Given the description of an element on the screen output the (x, y) to click on. 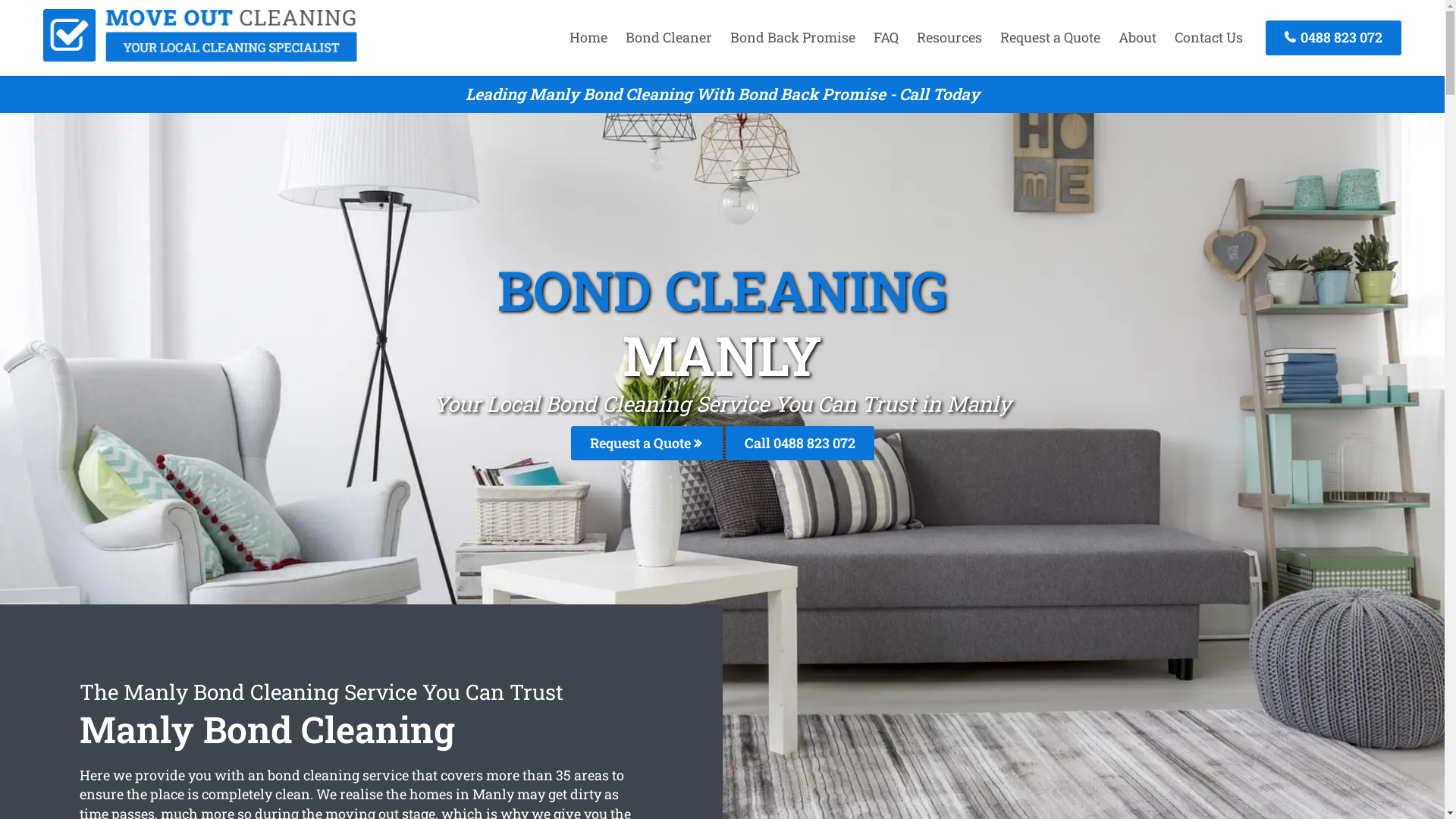
About Element type: text (1137, 37)
FAQ Element type: text (886, 37)
Bond Back Promise Element type: text (792, 37)
Contact Us Element type: text (1208, 37)
End of Lease Cleaning Element type: hover (200, 56)
Home Element type: text (588, 37)
Resources Element type: text (949, 37)
Request a Quote Element type: text (1049, 37)
Call 0488 823 072 Element type: text (798, 443)
Bond Cleaner Element type: text (668, 37)
Request a Quote Element type: text (645, 443)
0488 823 072 Element type: text (1333, 37)
